Given the description of an element on the screen output the (x, y) to click on. 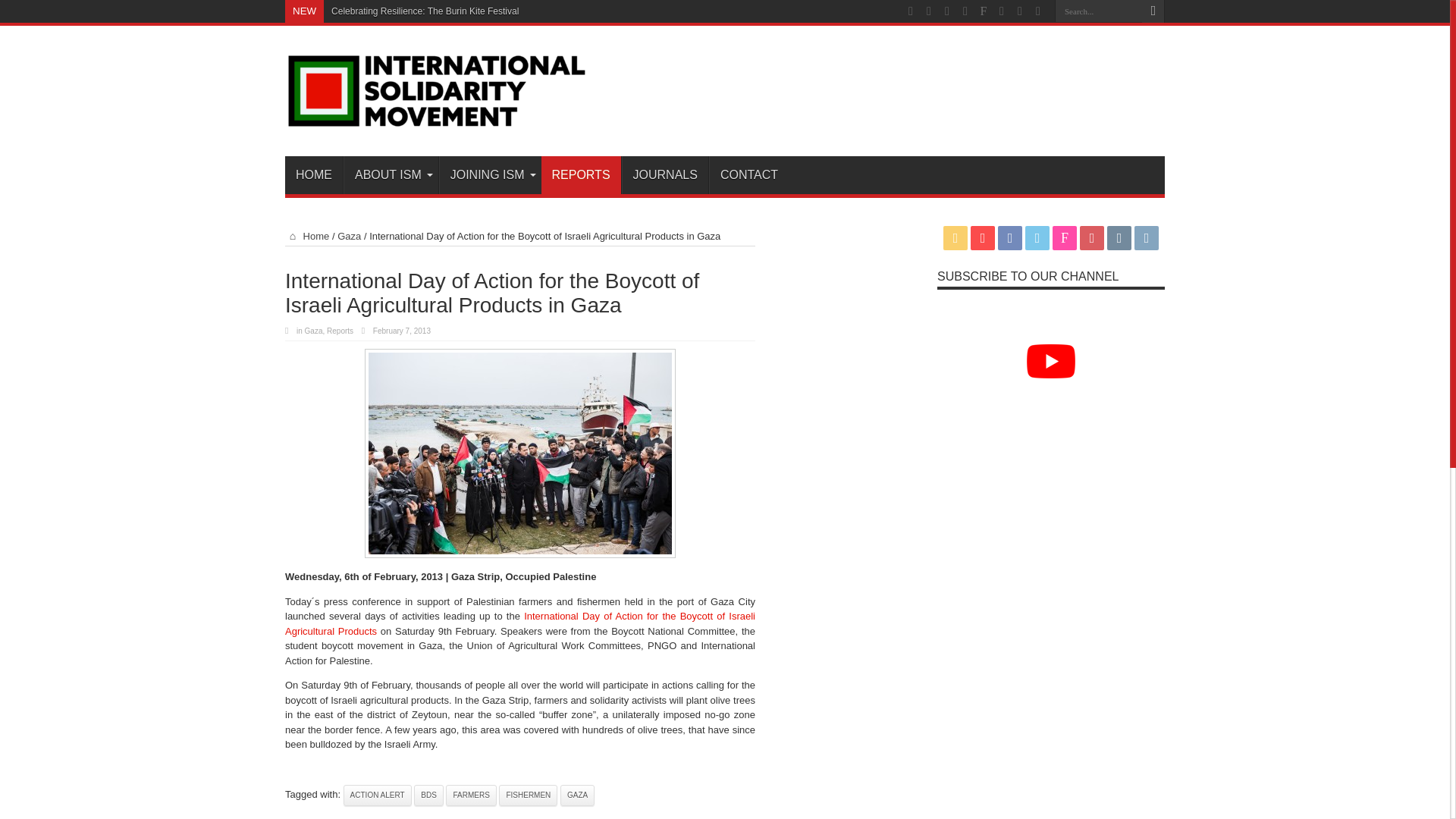
GAZA (577, 794)
International Solidarity Movement (436, 117)
Search (1152, 11)
HOME (313, 175)
BDS (428, 794)
Search... (1097, 11)
ACTION ALERT (377, 794)
REPORTS (581, 175)
Home (307, 235)
